Given the description of an element on the screen output the (x, y) to click on. 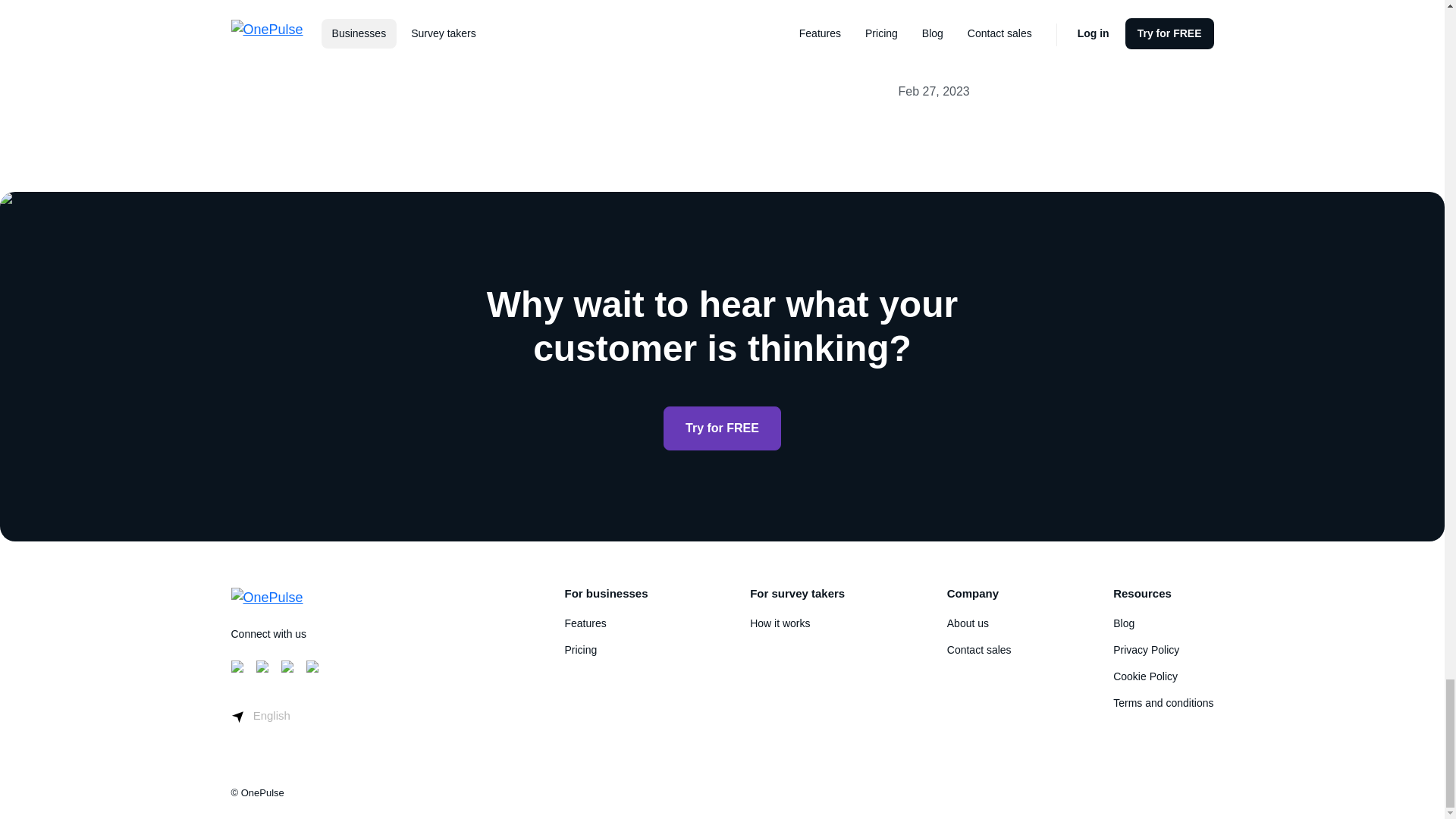
Try for FREE (721, 428)
English (259, 714)
